Given the description of an element on the screen output the (x, y) to click on. 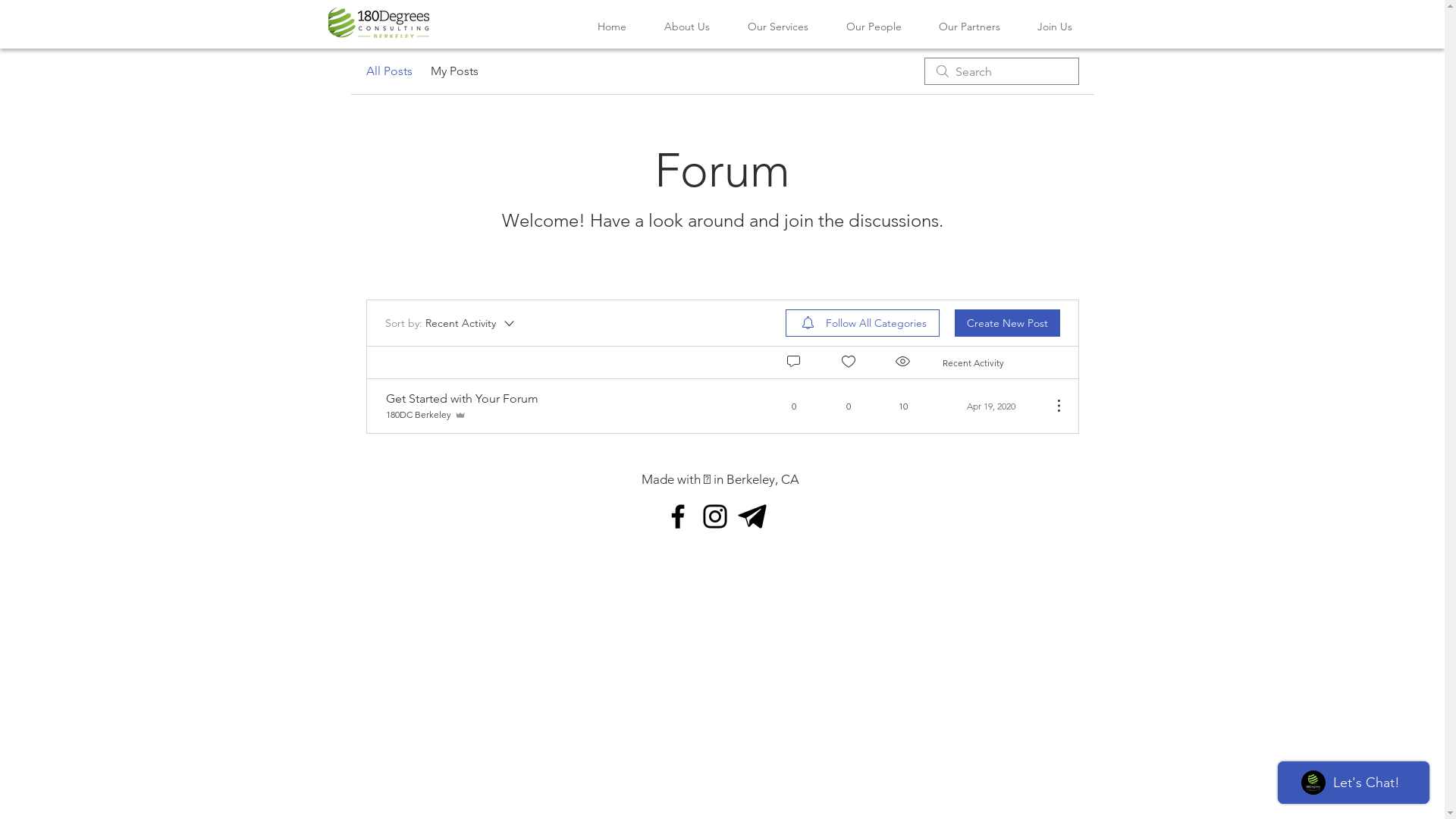
Get Started with Your Forum Element type: text (461, 397)
All Posts Element type: text (388, 71)
Join Us Element type: text (1055, 26)
Sort by:
 Recent Activity Element type: text (450, 322)
Create New Post Element type: text (1006, 322)
Home Element type: text (610, 26)
About Us Element type: text (686, 26)
180DC Berkeley Element type: text (425, 414)
Our Services Element type: text (777, 26)
Our Partners Element type: text (969, 26)
Follow All Categories Element type: text (862, 322)
My Posts Element type: text (454, 71)
Our People Element type: text (872, 26)
Reactions Element type: hover (848, 360)
